Given the description of an element on the screen output the (x, y) to click on. 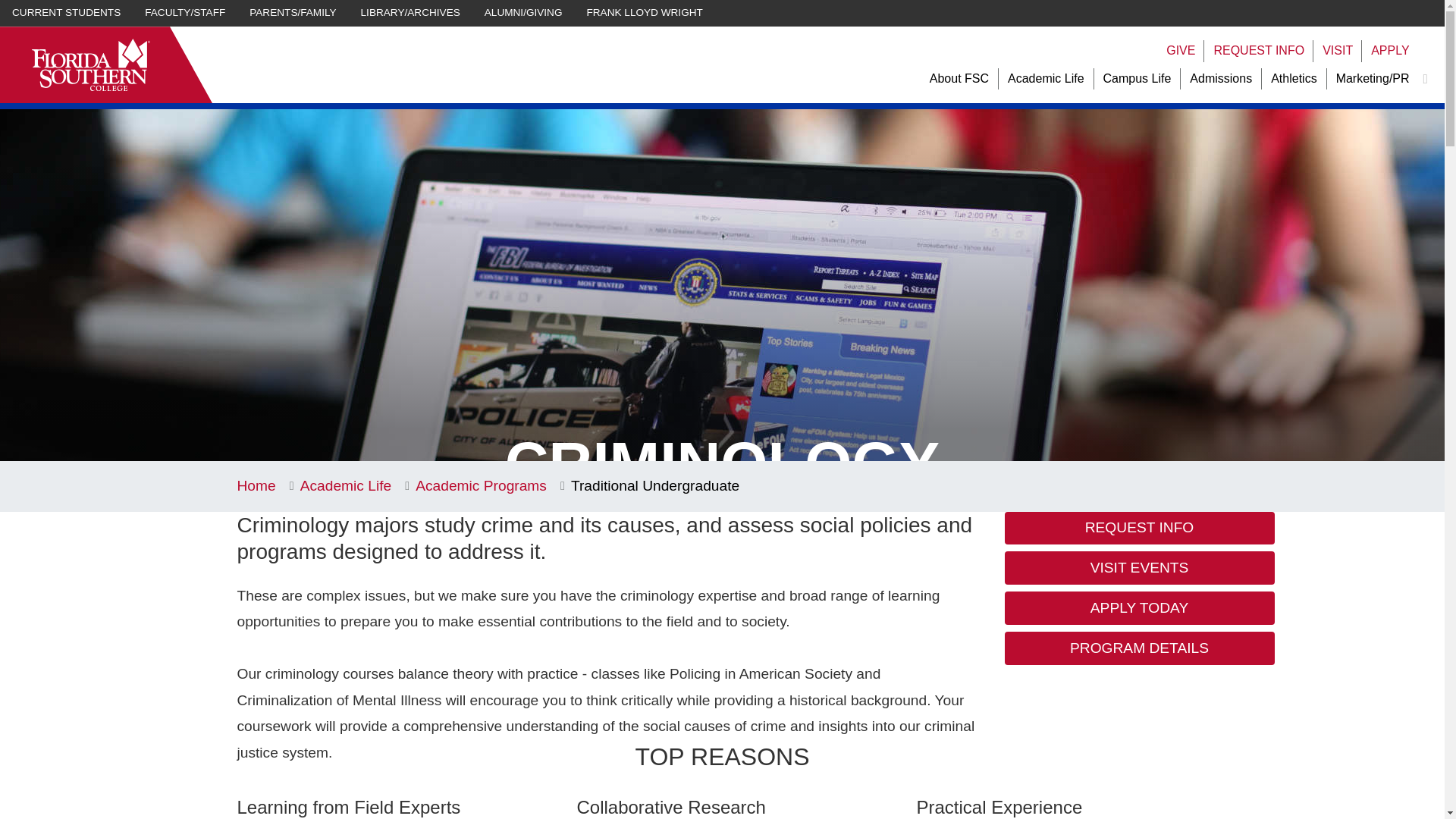
Academic Life (1045, 78)
FRANK LLOYD WRIGHT (644, 13)
GIVE (1180, 51)
Campus Life (1137, 78)
Admissions (1220, 78)
VISIT (1337, 51)
About FSC (959, 78)
CURRENT STUDENTS (65, 13)
REQUEST INFO (1258, 51)
APPLY (1390, 51)
